Given the description of an element on the screen output the (x, y) to click on. 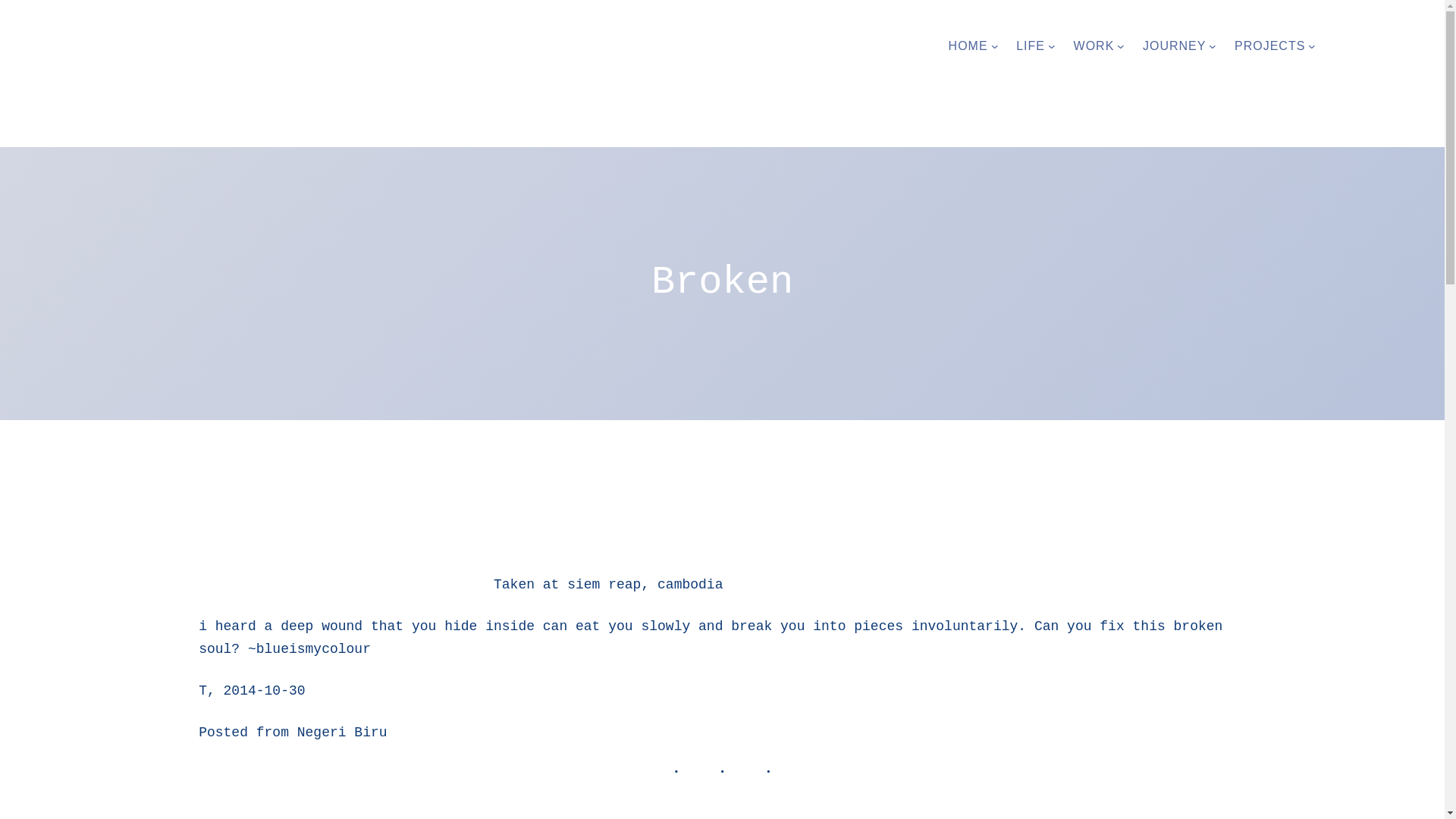
HOME (968, 46)
JOURNEY (1173, 46)
LIFE (1030, 46)
PROJECTS (1269, 46)
WORK (1094, 46)
